Given the description of an element on the screen output the (x, y) to click on. 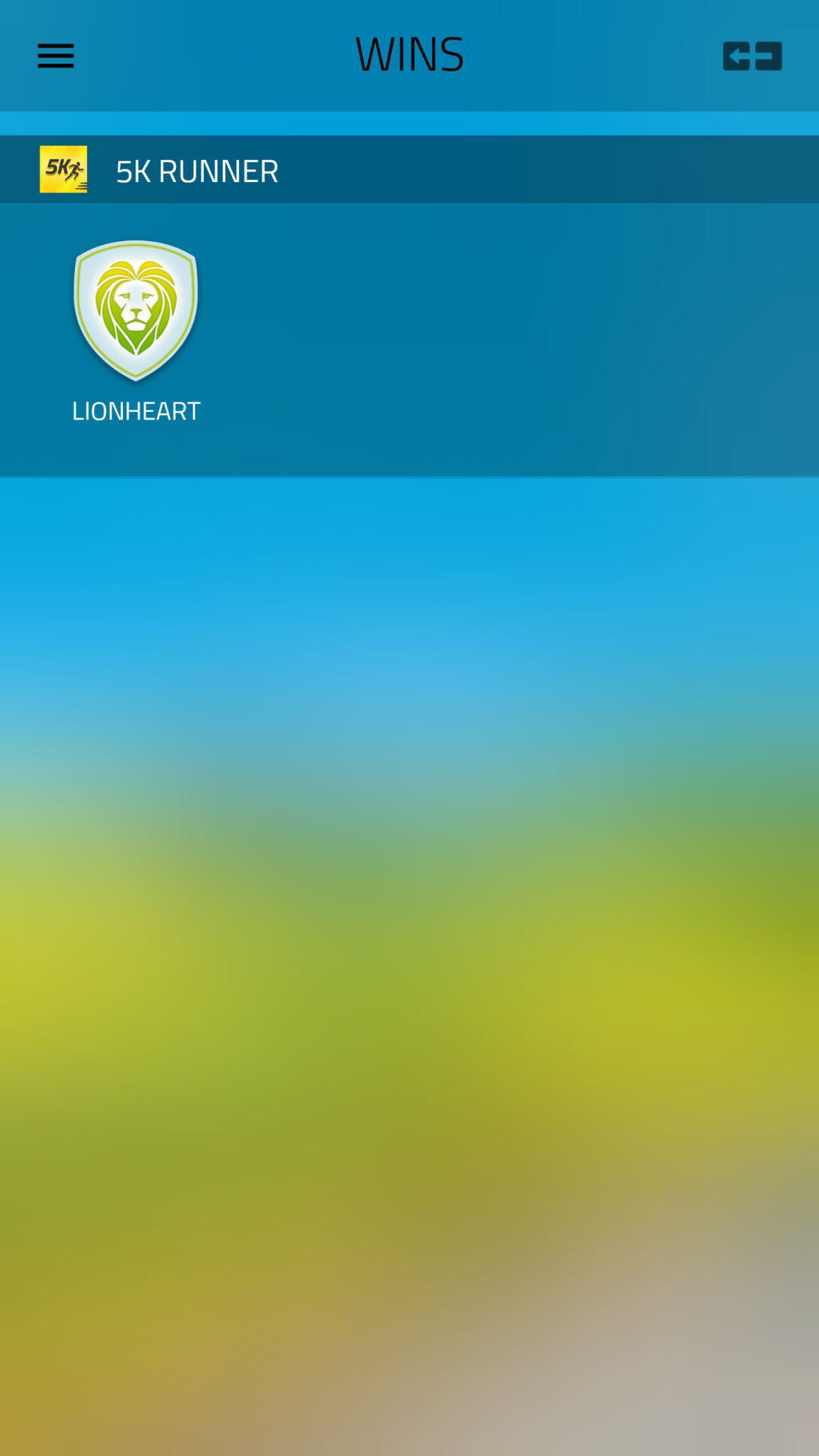
choose item above lionheart
 item (135, 309)
